Given the description of an element on the screen output the (x, y) to click on. 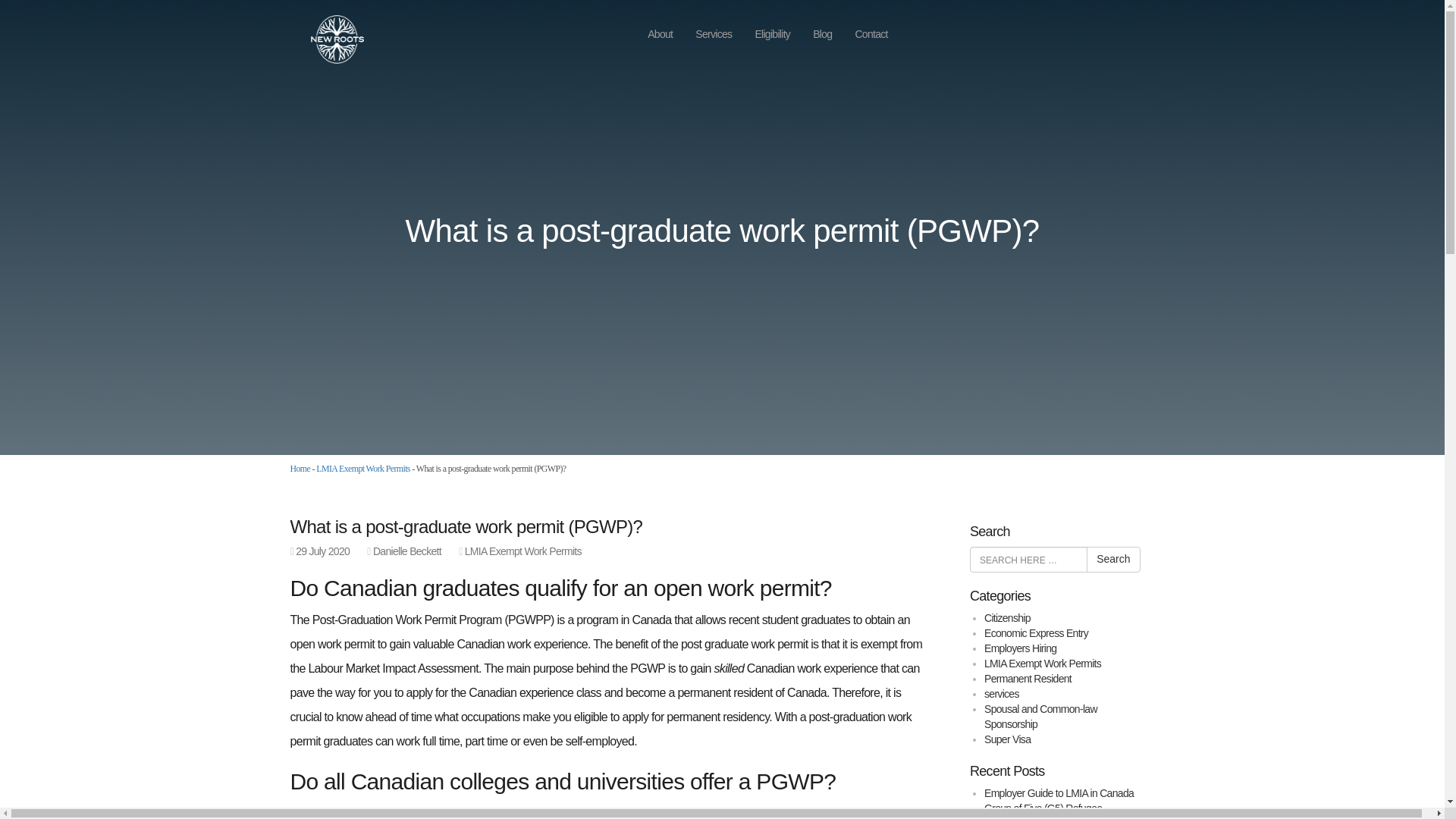
Economic Express Entry (1035, 633)
Contact (870, 34)
Home (299, 468)
Services (713, 34)
Permanent Resident (1027, 678)
LMIA Exempt Work Permits (362, 468)
Super Visa (1007, 739)
Blog (822, 34)
NewRoots (329, 37)
Spousal and Common-law Sponsorship (1040, 716)
